Given the description of an element on the screen output the (x, y) to click on. 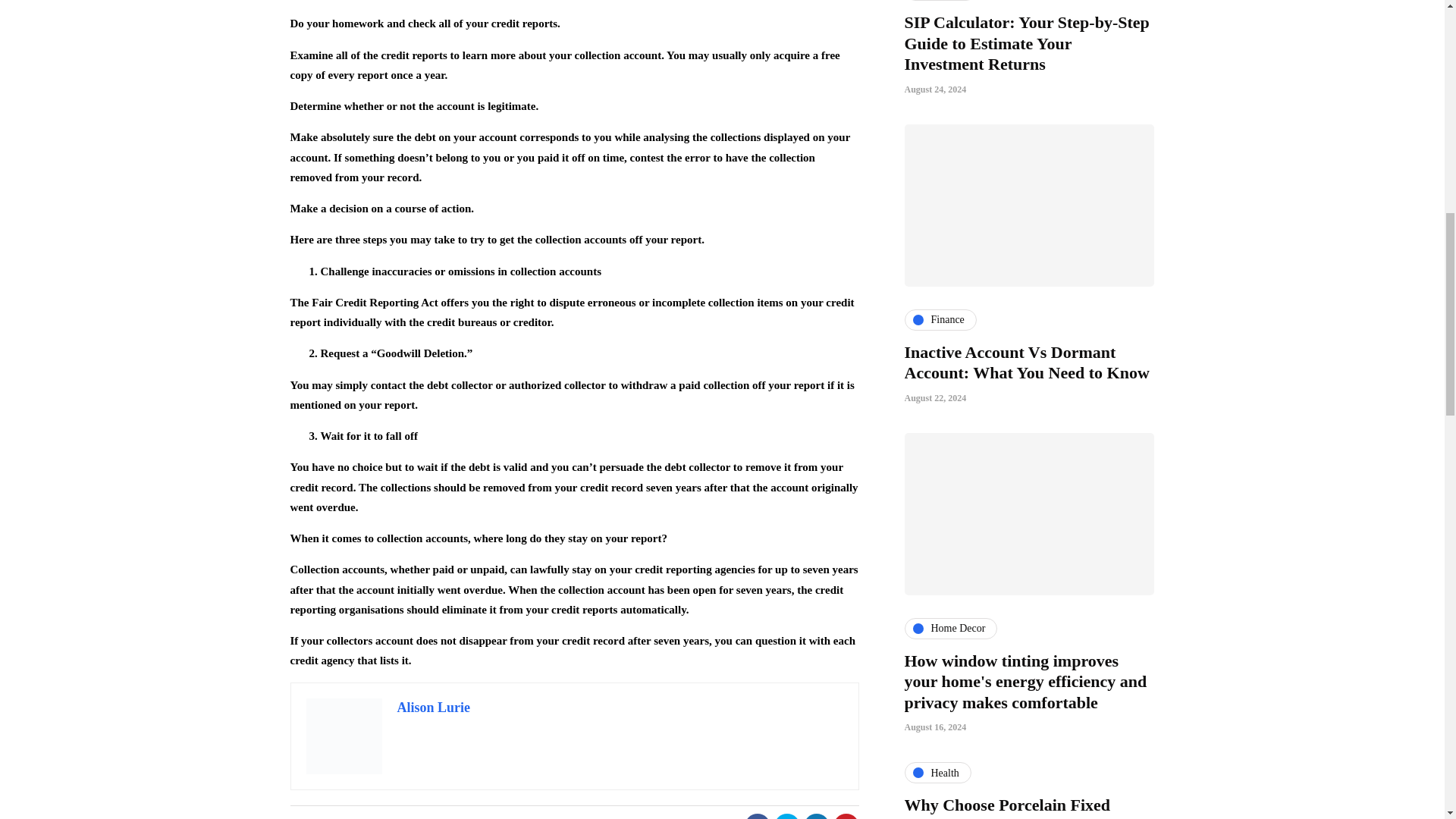
Health (937, 772)
Pin this (845, 816)
Alison Lurie (433, 706)
Share with Facebook (757, 816)
Finance (939, 0)
Why Choose Porcelain Fixed Bridges for Tooth Replacement? (1019, 807)
Finance (939, 319)
Home Decor (950, 628)
Tweet this (786, 816)
